Given the description of an element on the screen output the (x, y) to click on. 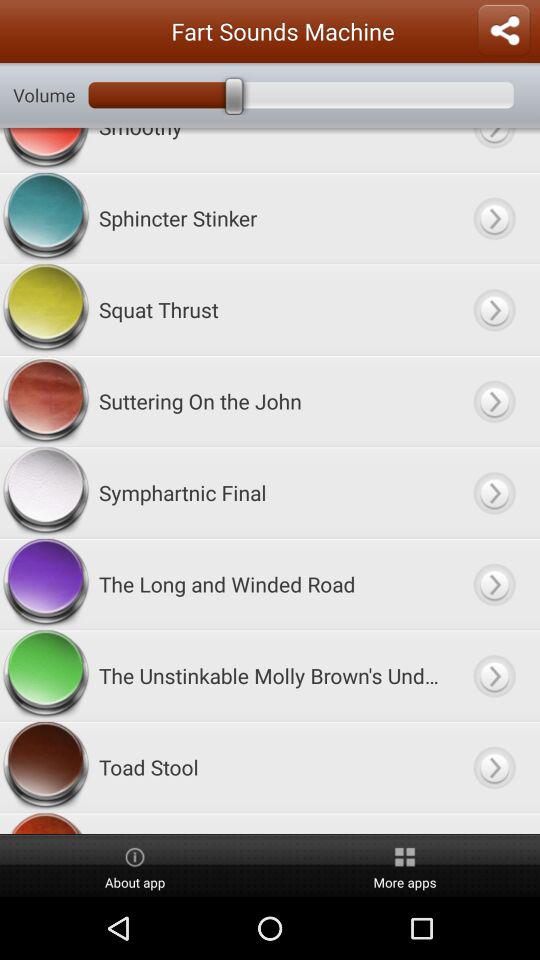
swipe until sphincter stinker (269, 218)
